Given the description of an element on the screen output the (x, y) to click on. 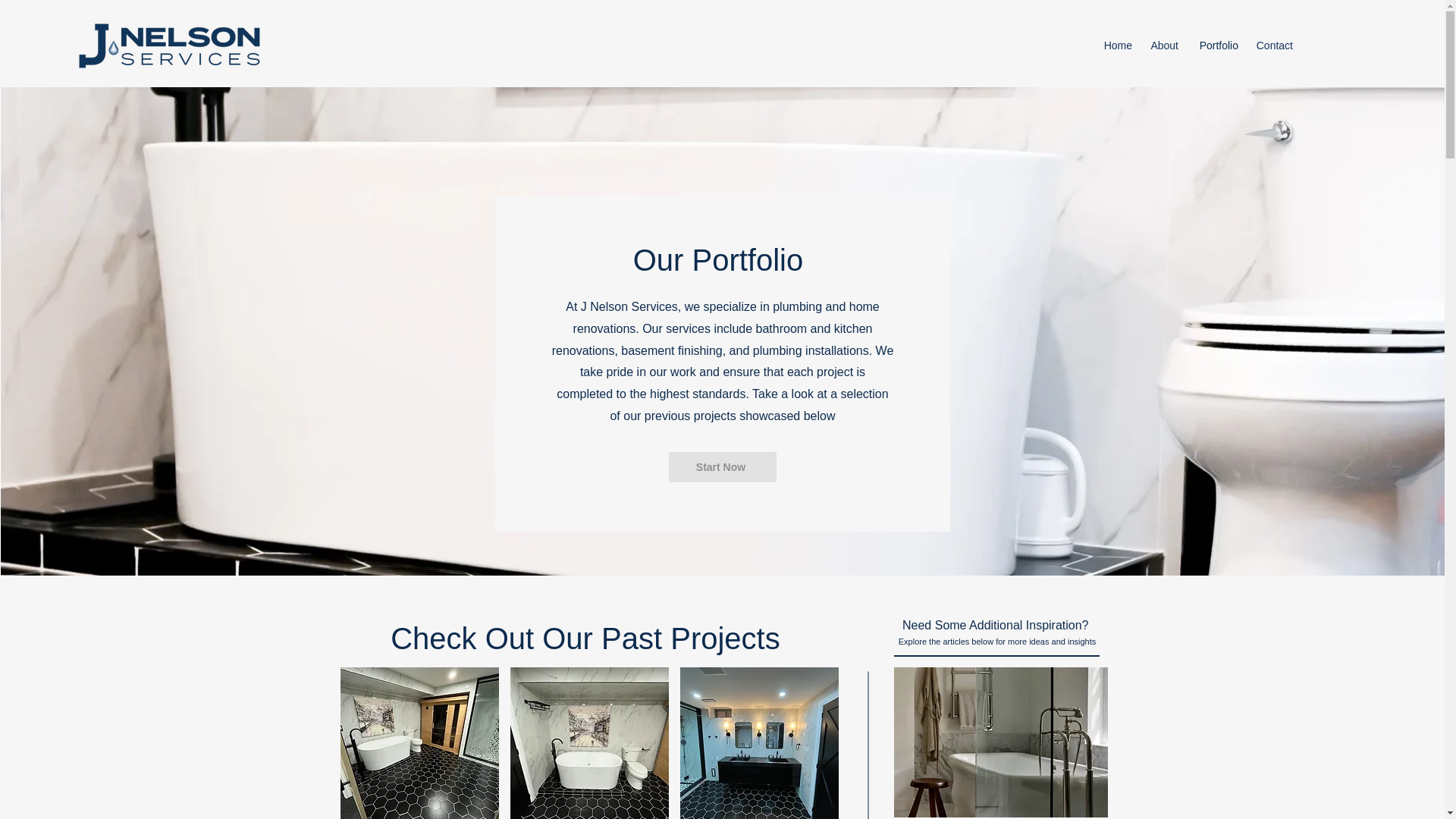
About (1163, 45)
Contact (1273, 45)
Home (1117, 45)
Portfolio (1216, 45)
Start Now (722, 467)
